Given the description of an element on the screen output the (x, y) to click on. 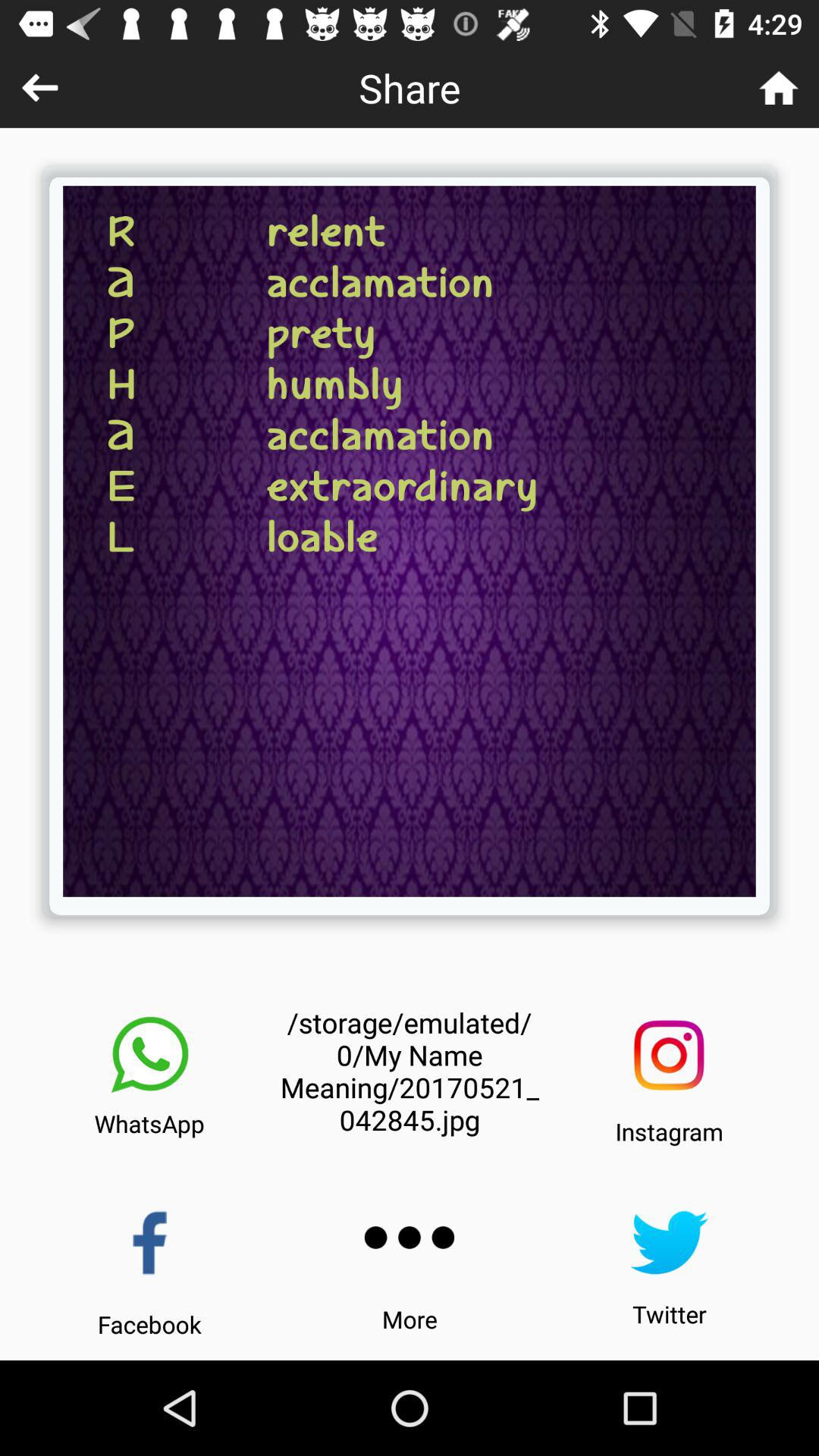
tap the icon at the top right corner (778, 87)
